Given the description of an element on the screen output the (x, y) to click on. 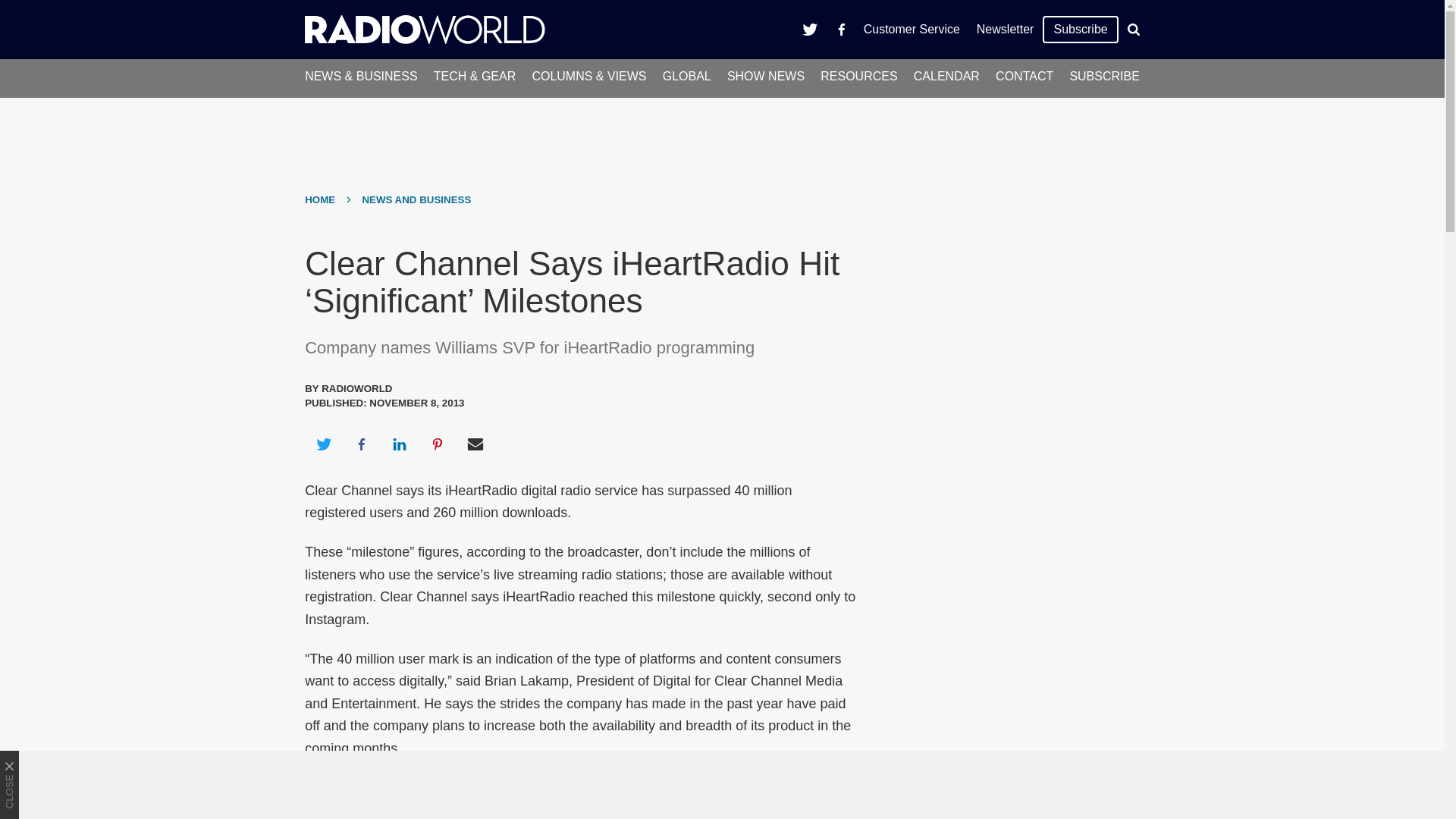
Share on Twitter (323, 444)
Share via Email (476, 444)
Share on Pinterest (438, 444)
Customer Service (912, 29)
Share on Facebook (361, 444)
Newsletter (1005, 29)
Share on LinkedIn (399, 444)
